Given the description of an element on the screen output the (x, y) to click on. 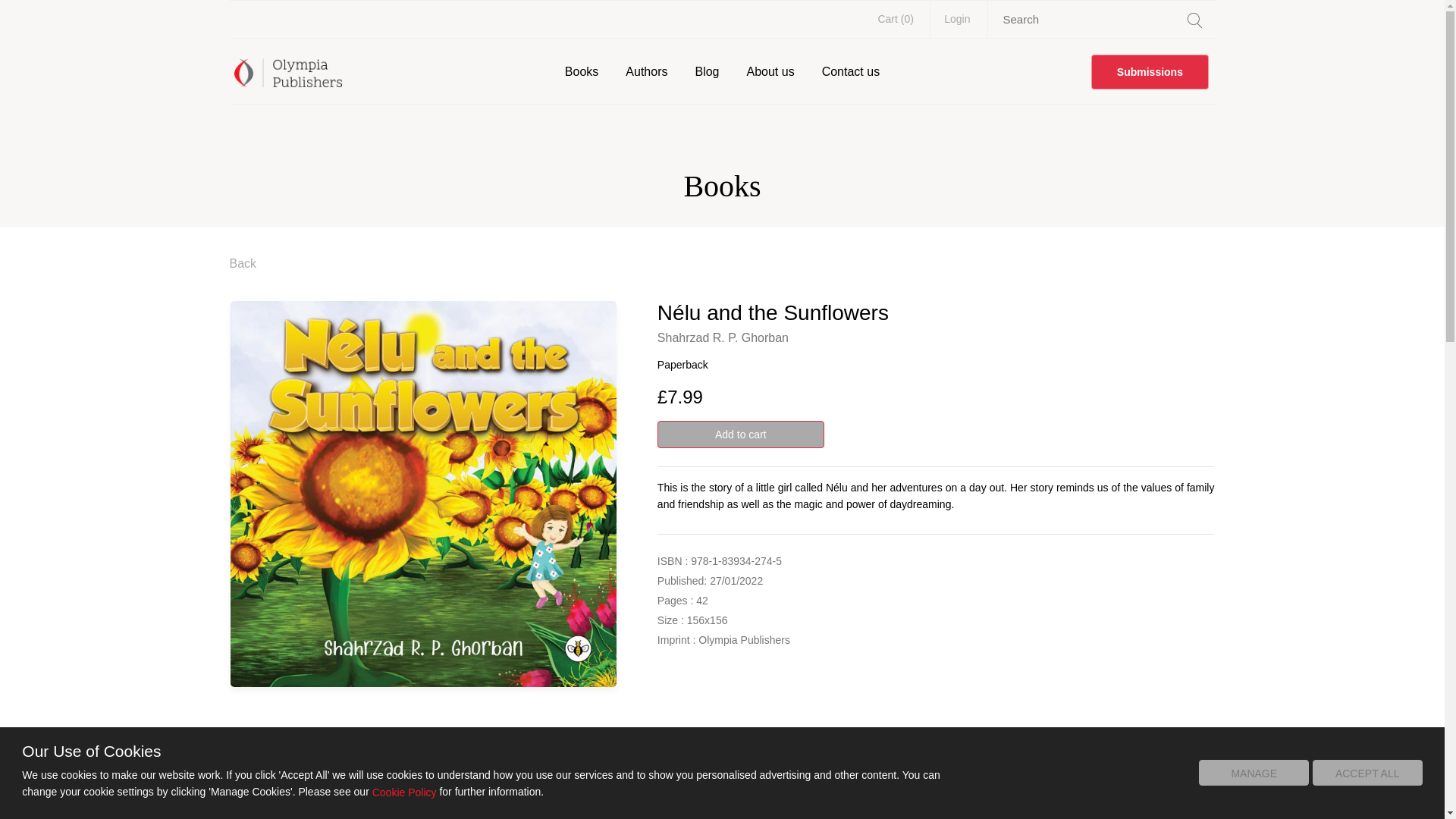
Books (581, 71)
Submissions (1149, 71)
Authors (646, 71)
Login (957, 18)
About us (769, 71)
Contact us (849, 71)
Blog (706, 71)
